Given the description of an element on the screen output the (x, y) to click on. 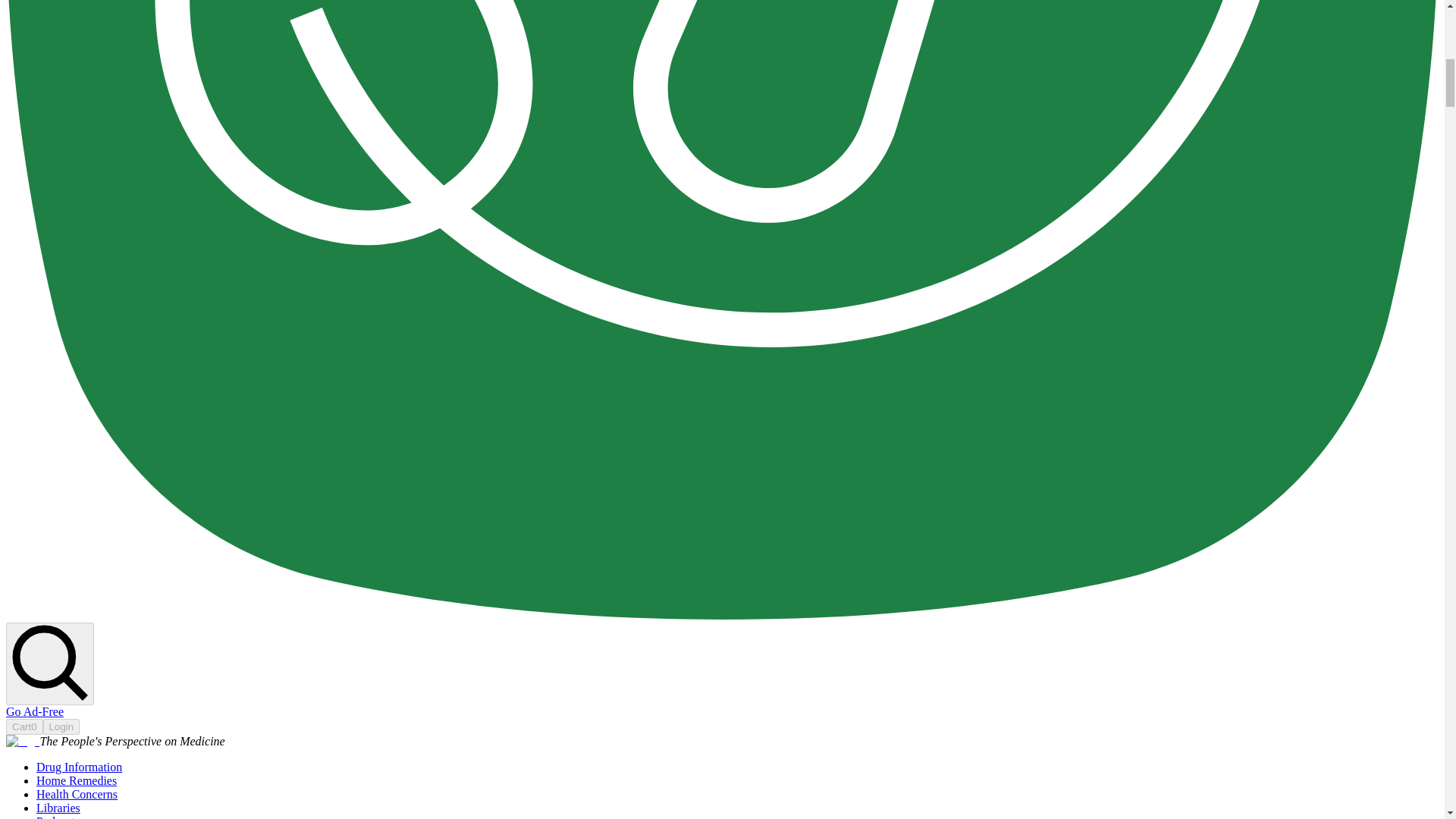
Cart0 (24, 726)
Drug Information (79, 766)
Podcasts (57, 816)
Health Concerns (76, 793)
Login (61, 726)
Libraries (58, 807)
Home Remedies (76, 780)
